Given the description of an element on the screen output the (x, y) to click on. 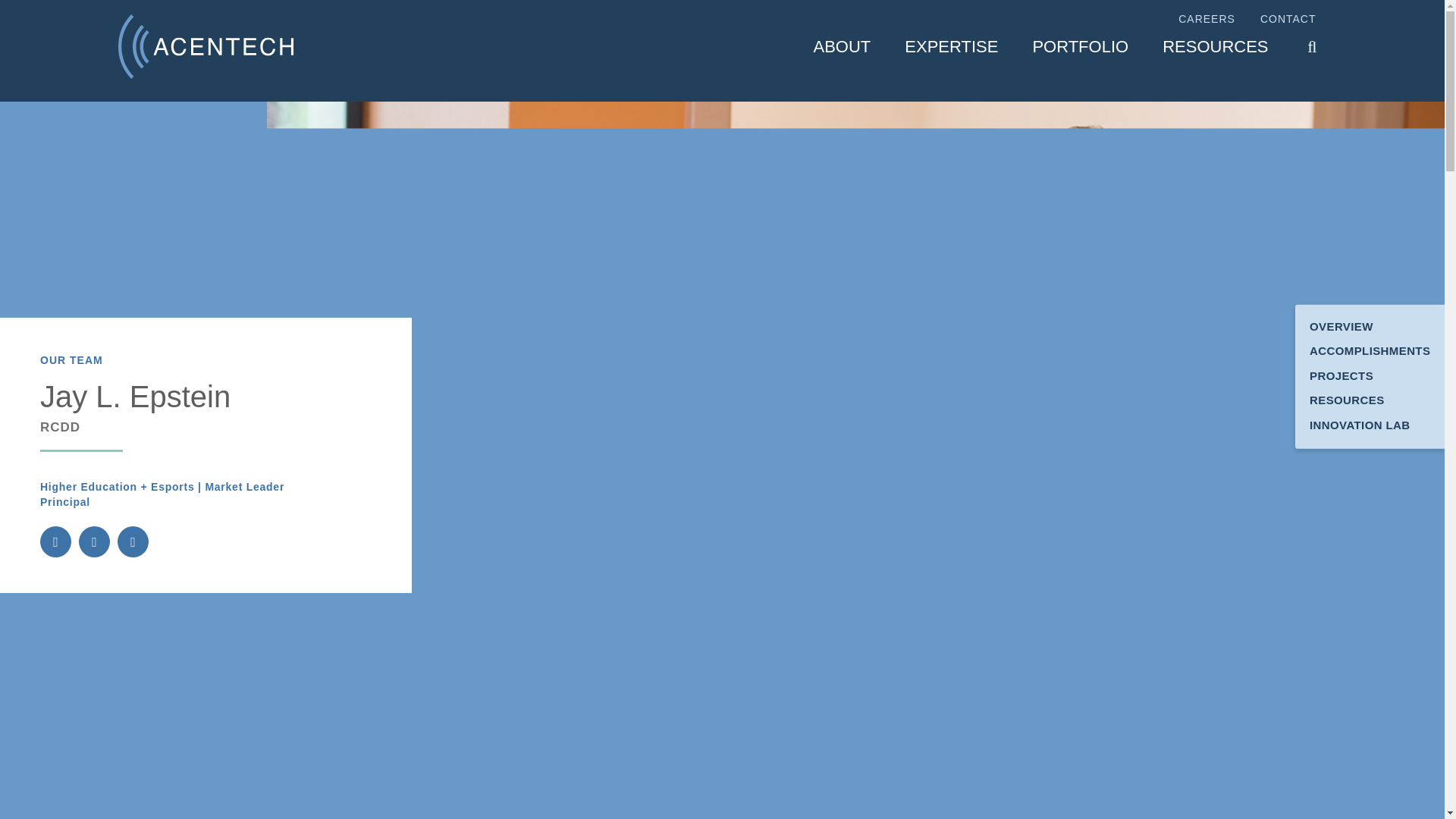
EXPERTISE (950, 47)
CAREERS (1205, 19)
CONTACT (1288, 19)
ABOUT (841, 47)
